Given the description of an element on the screen output the (x, y) to click on. 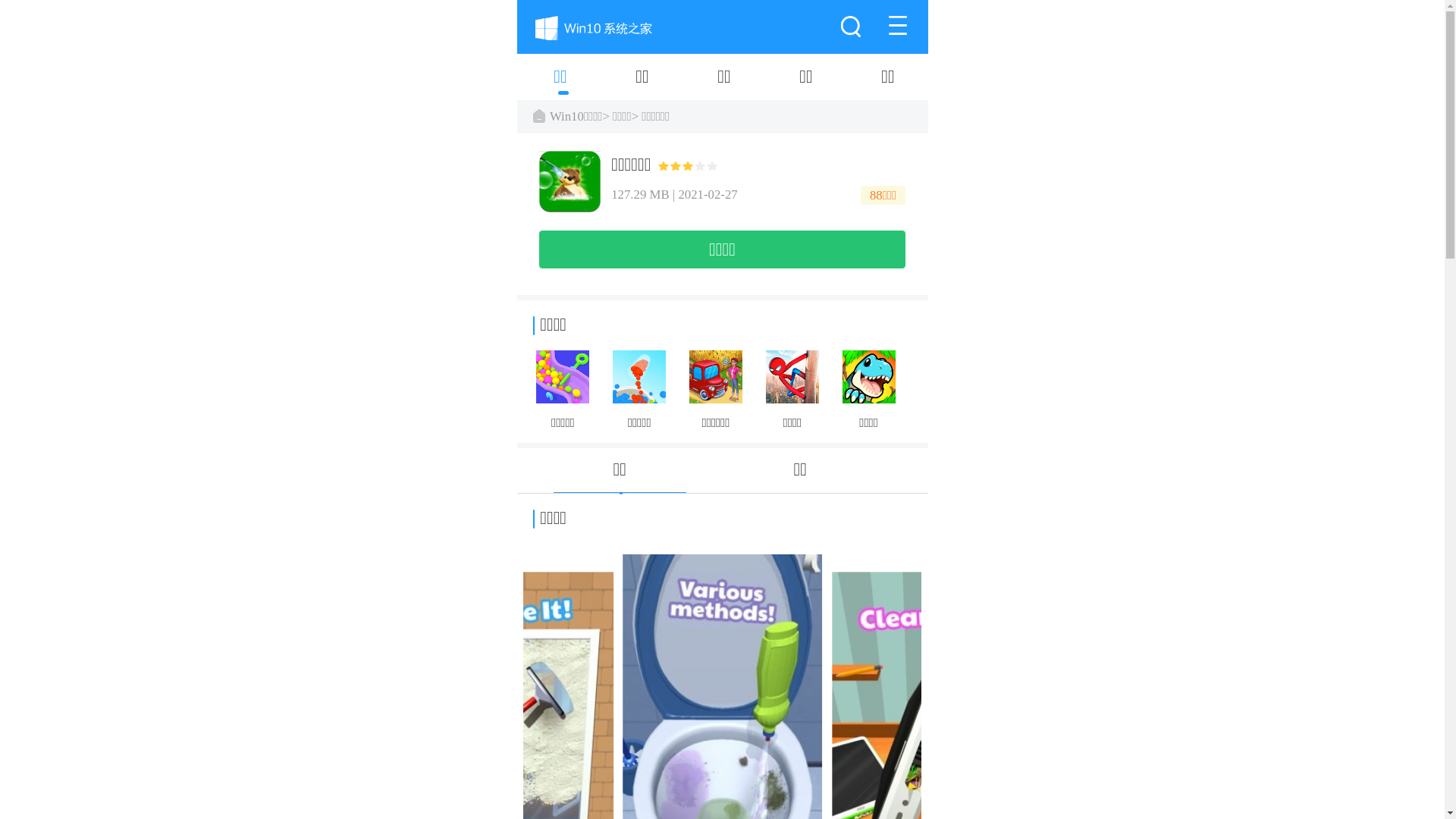
XP Element type: text (396, 76)
Win7 Element type: text (314, 76)
Win10 Element type: text (232, 76)
